Given the description of an element on the screen output the (x, y) to click on. 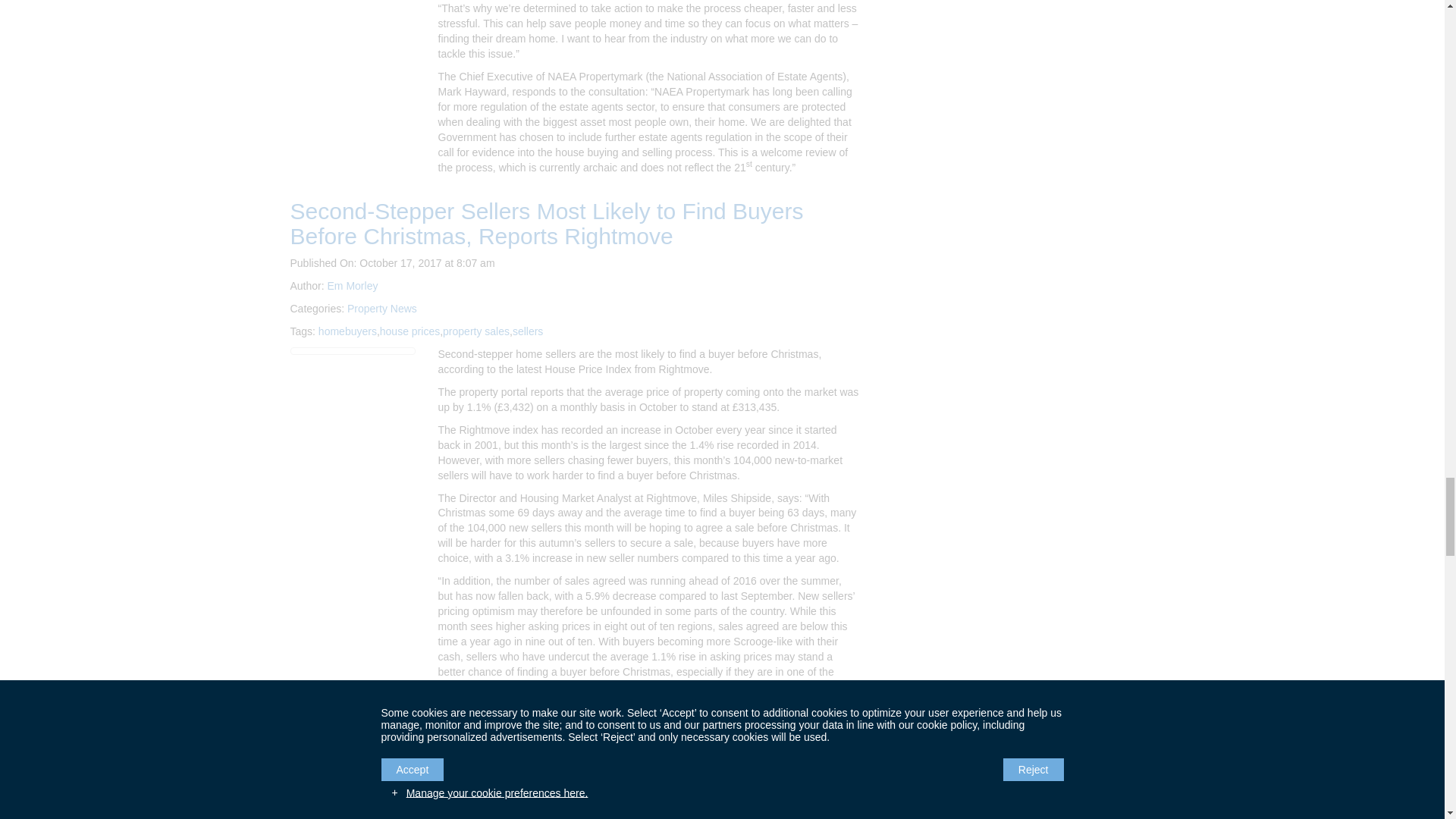
Posts by Em Morley (352, 285)
